Given the description of an element on the screen output the (x, y) to click on. 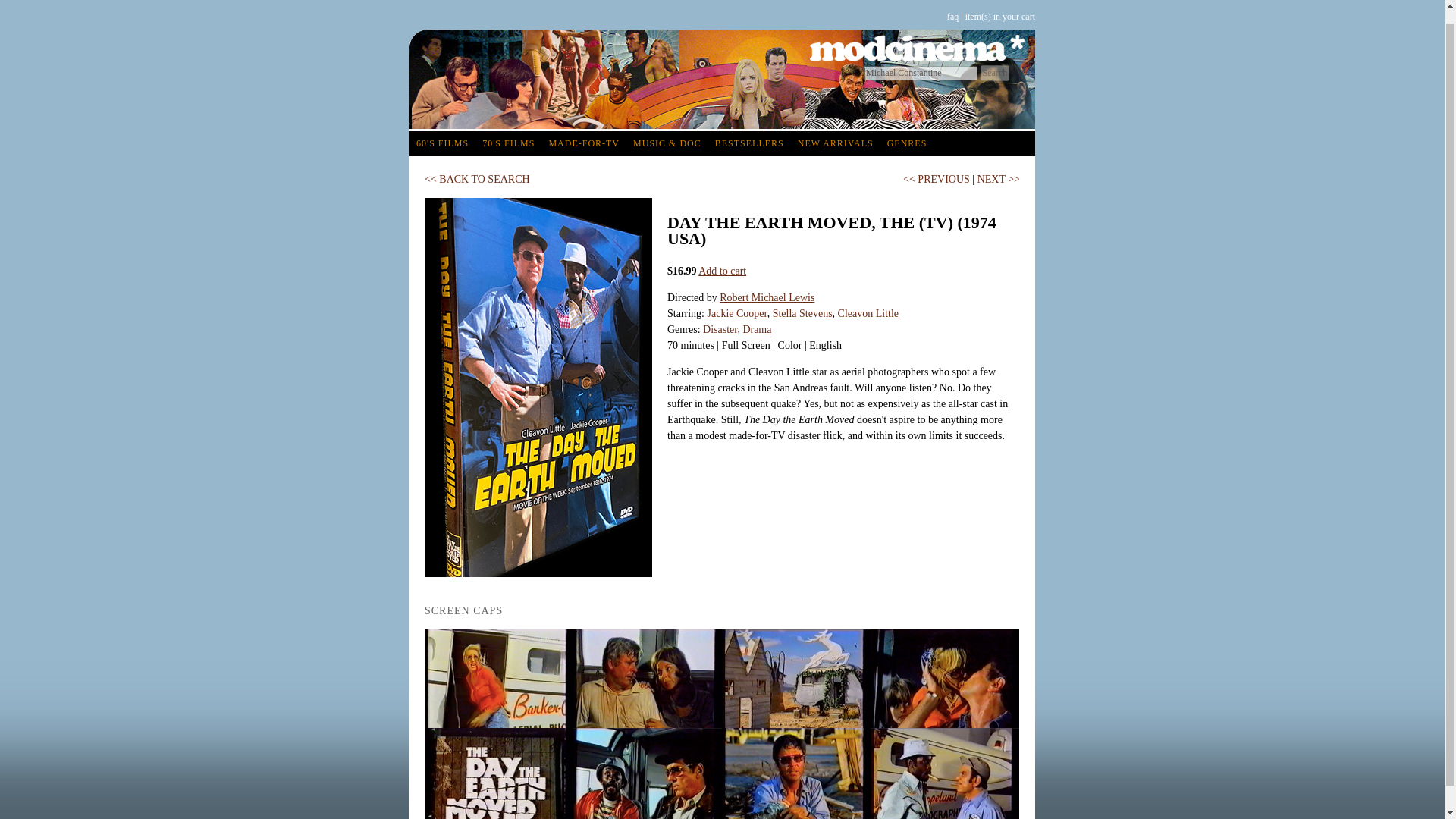
BESTSELLERS (748, 143)
Disaster (719, 328)
MADE-FOR-TV (583, 143)
Add to cart (721, 270)
Cleavon Little (868, 313)
Jackie Cooper (736, 313)
60'S FILMS (442, 143)
Michael Constantine (920, 73)
Stella Stevens (802, 313)
faq (952, 16)
